Given the description of an element on the screen output the (x, y) to click on. 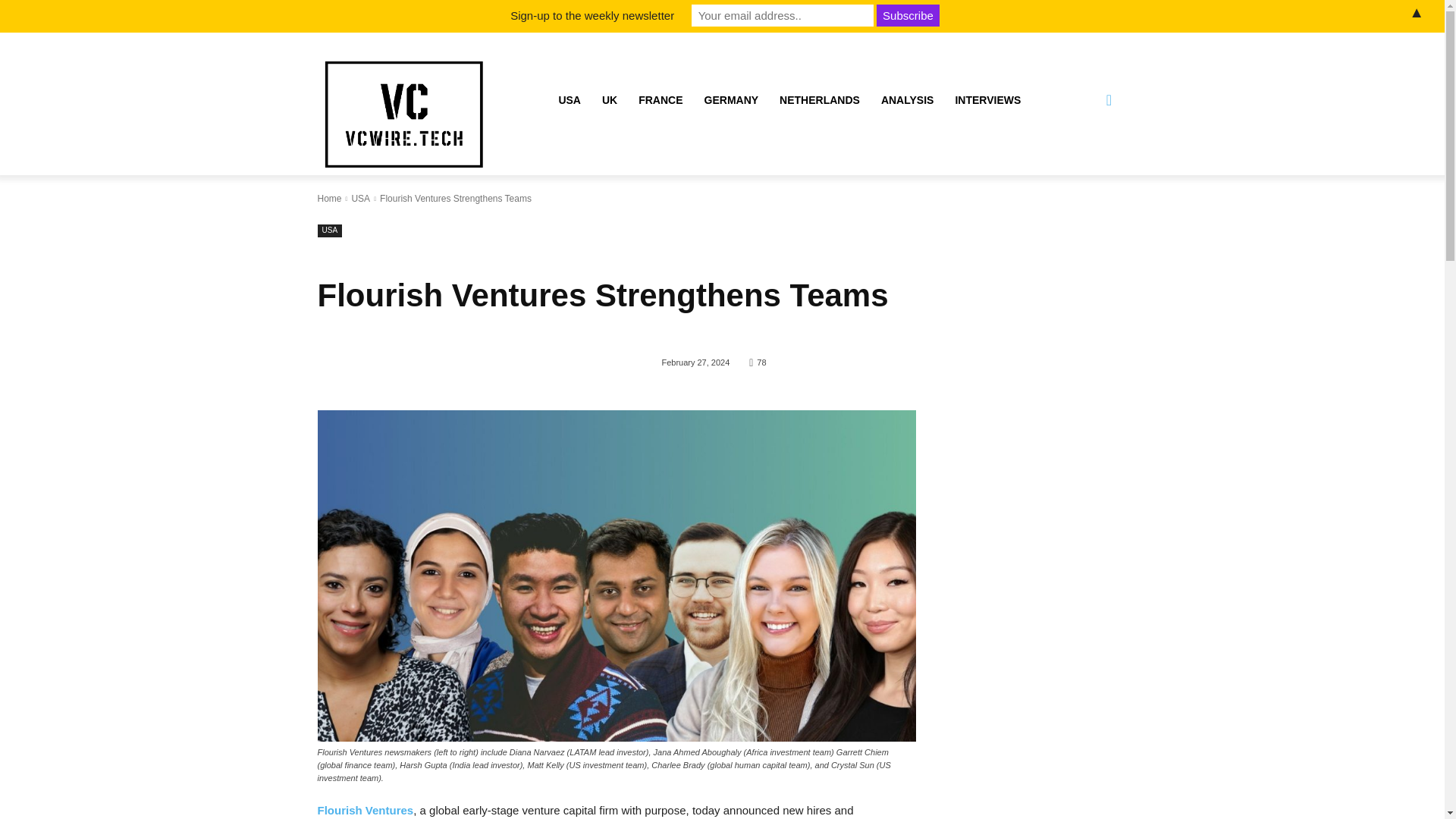
INTERVIEWS (986, 99)
NETHERLANDS (819, 99)
Home (328, 198)
Subscribe (908, 15)
ANALYSIS (907, 99)
Flourish Ventures (365, 809)
USA (359, 198)
View all posts in USA (359, 198)
UK (609, 99)
VCWire (402, 114)
